Given the description of an element on the screen output the (x, y) to click on. 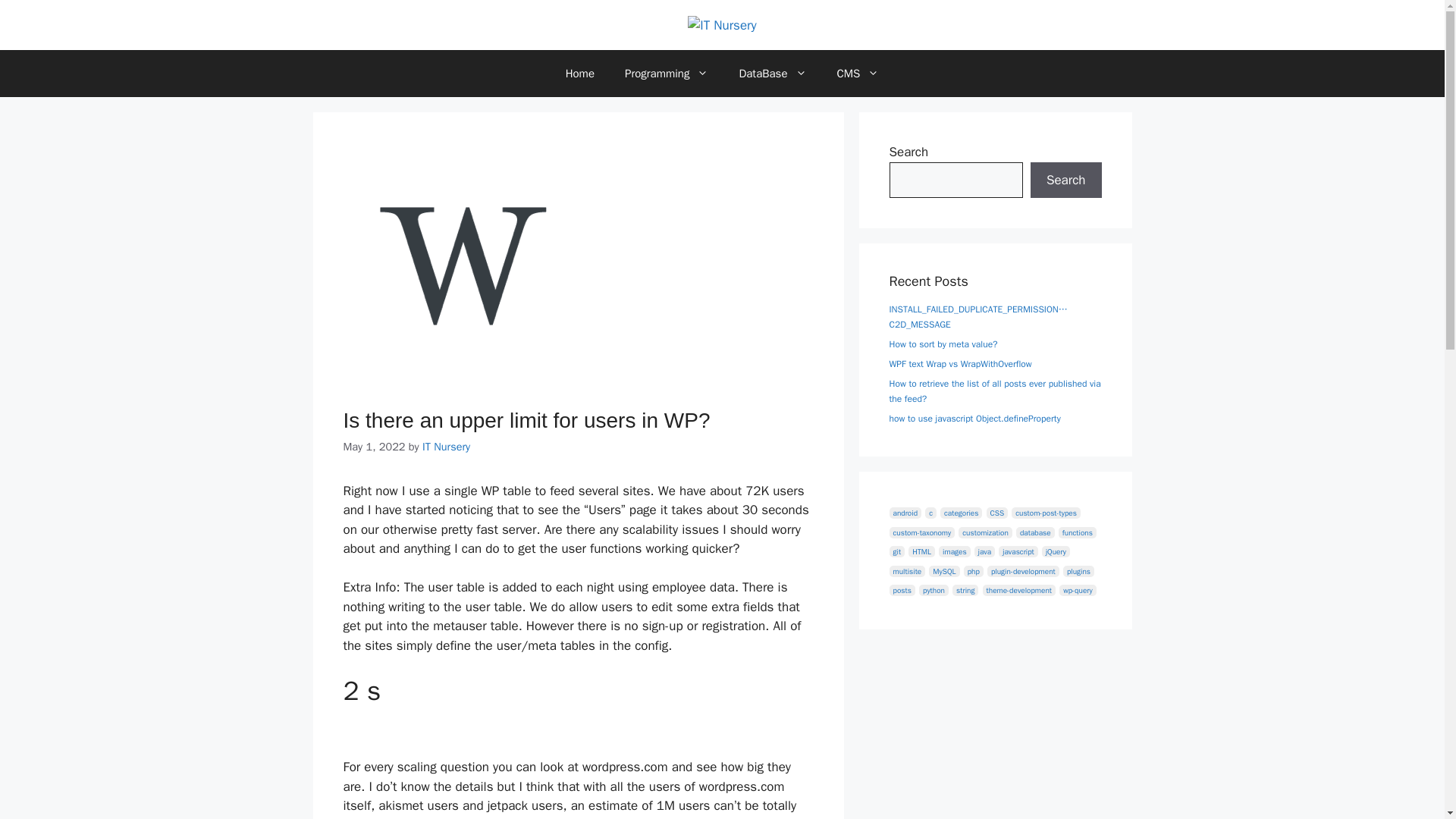
CSS (998, 512)
git (896, 551)
IT Nursery (721, 24)
images (955, 551)
DataBase (772, 73)
database (1035, 532)
functions (1077, 532)
categories (960, 512)
Search (1066, 180)
Home (580, 73)
c (930, 512)
HTML (921, 551)
View all posts by IT Nursery (446, 446)
Programming (666, 73)
